Given the description of an element on the screen output the (x, y) to click on. 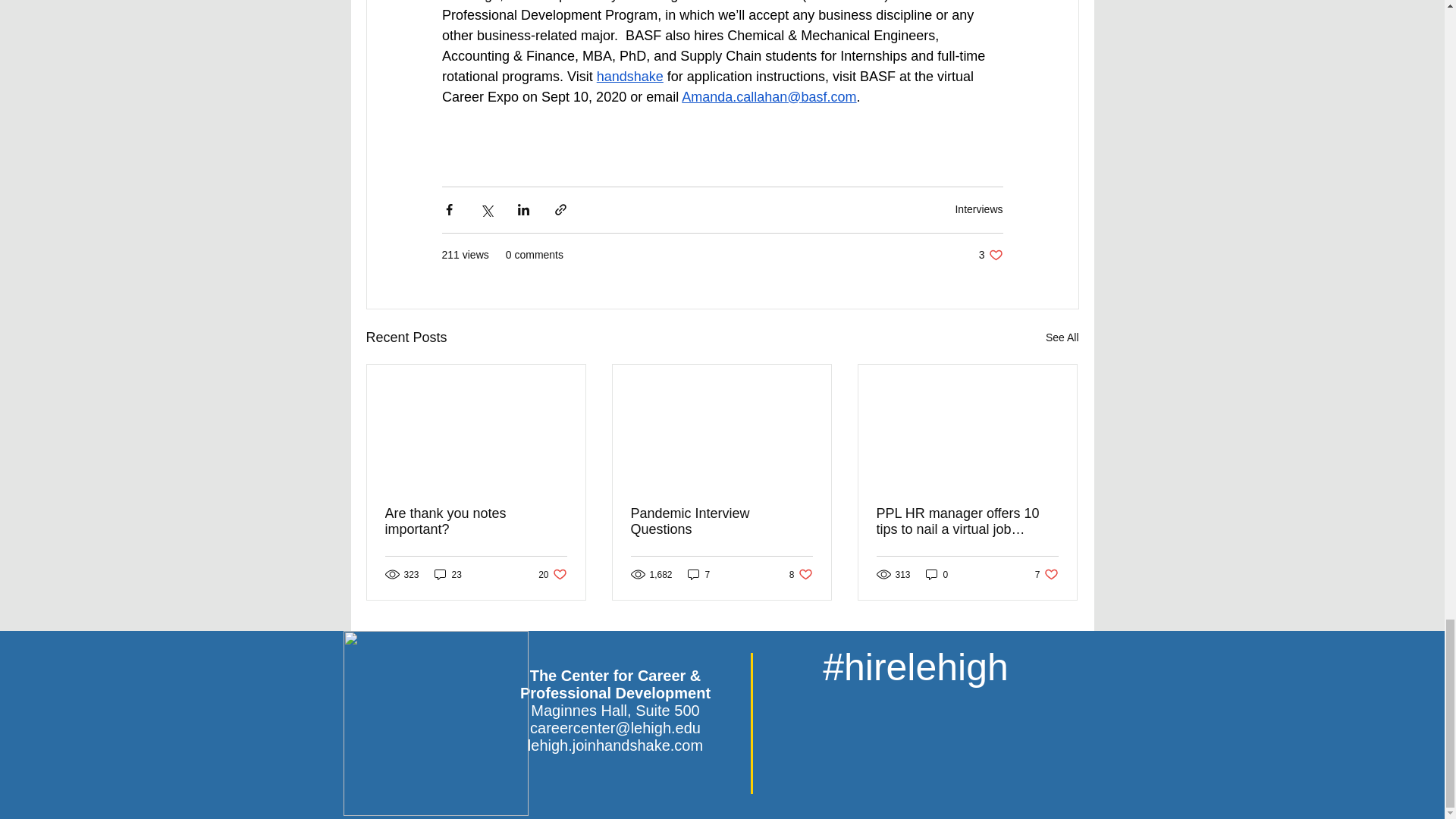
Interviews (979, 209)
23 (447, 574)
See All (1061, 337)
Are thank you notes important? (476, 521)
handshake (552, 574)
